Given the description of an element on the screen output the (x, y) to click on. 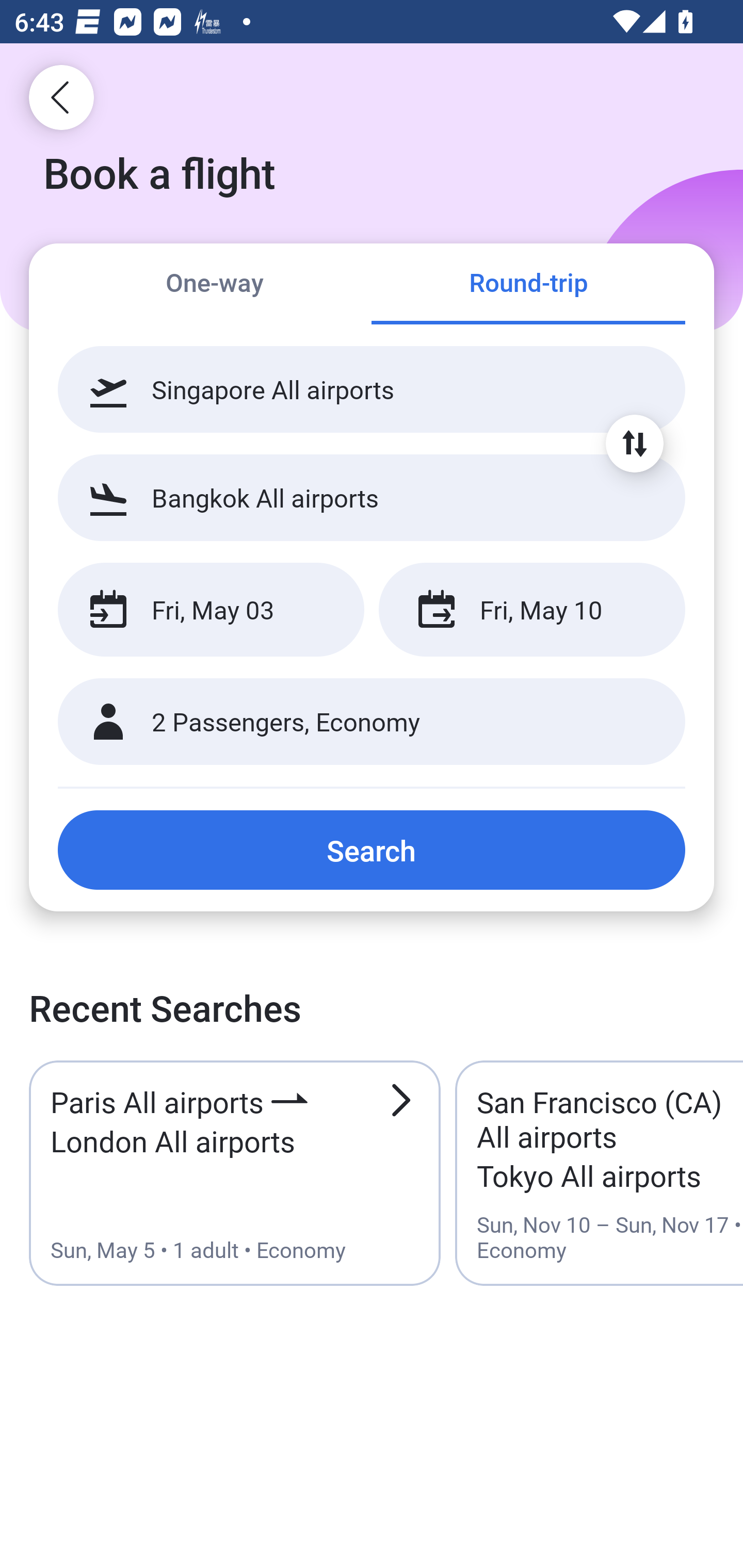
One-way (214, 284)
Singapore All airports (371, 389)
Bangkok All airports (371, 497)
Fri, May 03 (210, 609)
Fri, May 10 (531, 609)
2 Passengers, Economy (371, 721)
Search (371, 849)
